Given the description of an element on the screen output the (x, y) to click on. 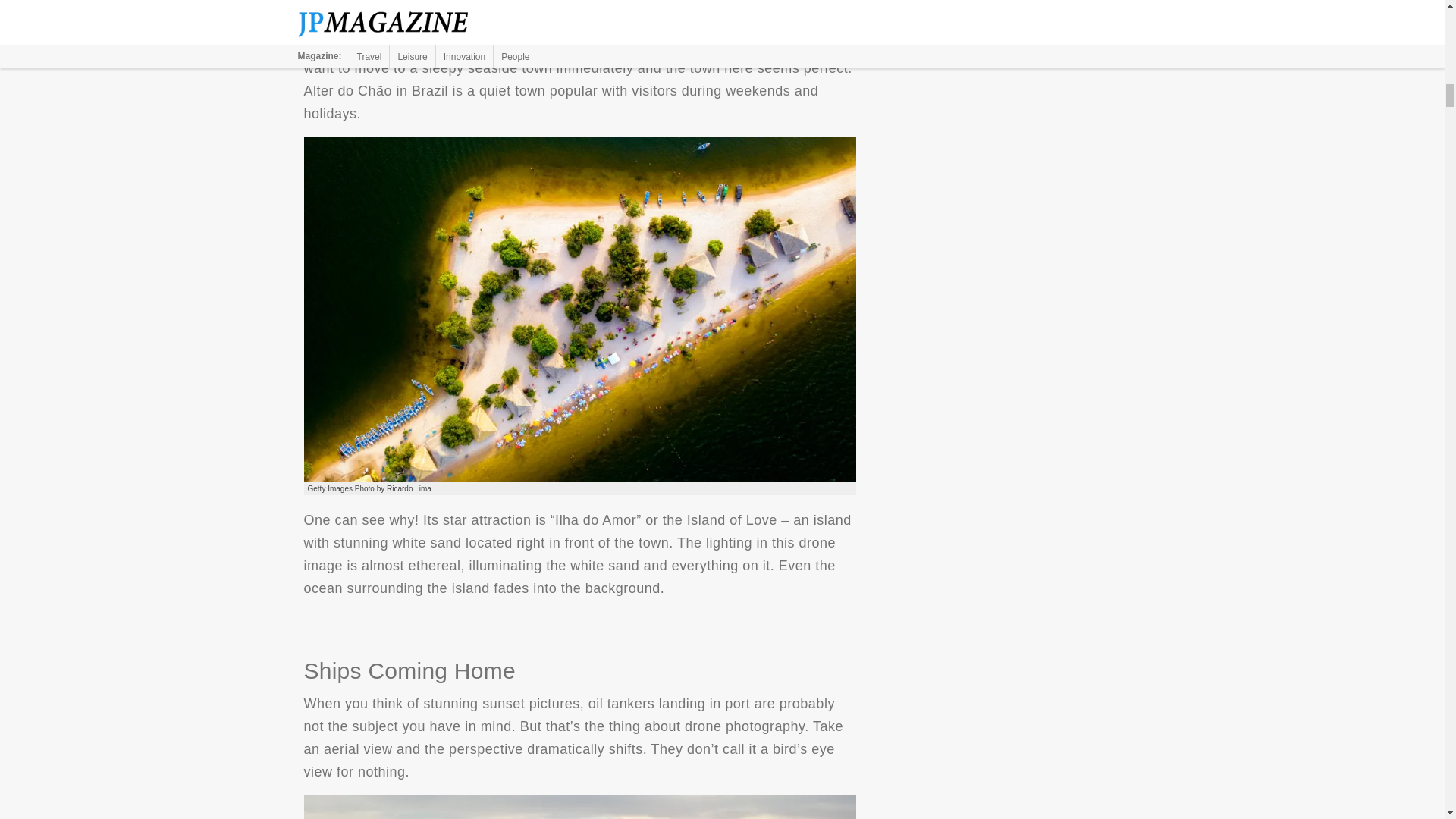
Ships Coming Home (579, 807)
